Given the description of an element on the screen output the (x, y) to click on. 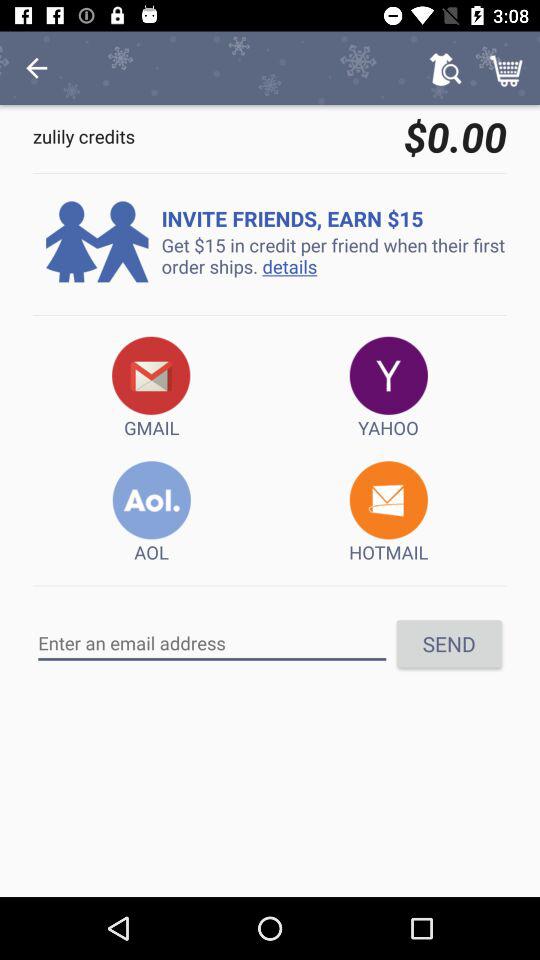
click the yahoo icon (388, 388)
